Given the description of an element on the screen output the (x, y) to click on. 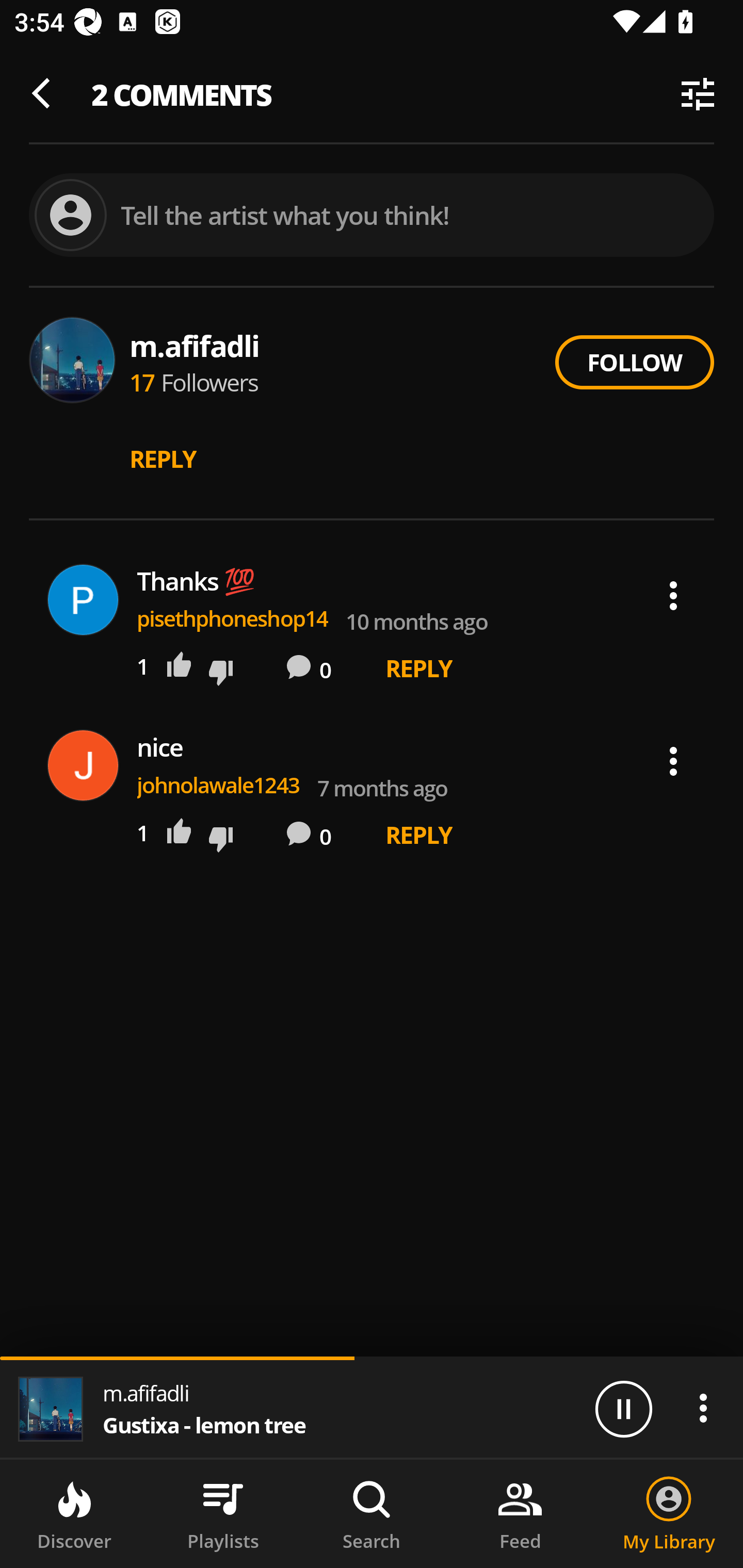
Close (46, 93)
Sort (697, 93)
Tell the artist what you think! (371, 215)
FOLLOW Follow (634, 361)
REPLY (163, 458)
Actions (673, 595)
pisethphoneshop14 (232, 618)
REPLY (418, 667)
Actions (673, 761)
johnolawale1243 (218, 784)
REPLY (418, 834)
Actions (703, 1407)
Play/Pause (623, 1408)
Discover (74, 1513)
Playlists (222, 1513)
Search (371, 1513)
Feed (519, 1513)
My Library (668, 1513)
